Given the description of an element on the screen output the (x, y) to click on. 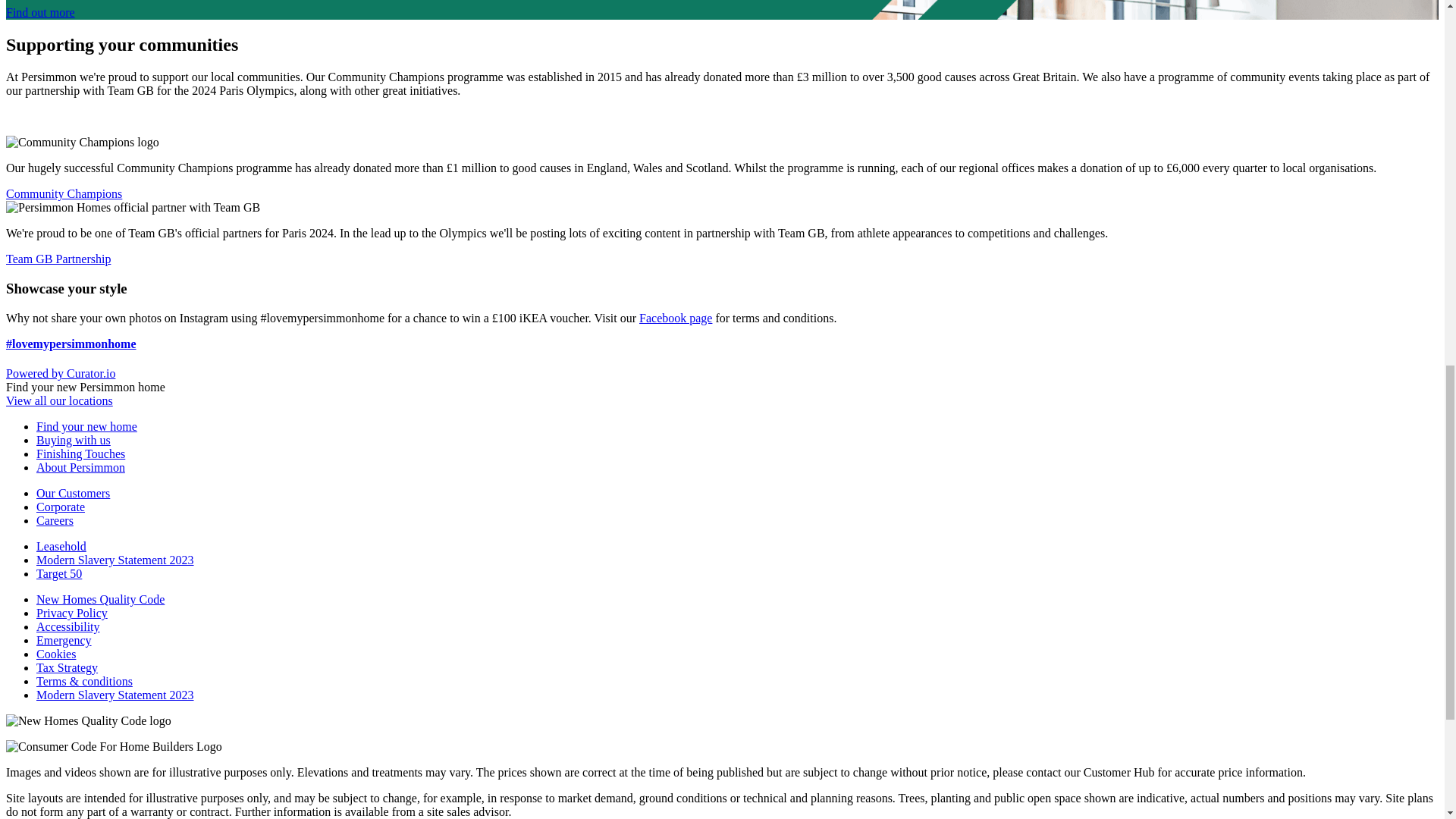
Leasehold (60, 545)
Our Customers (73, 492)
Team GB Partnership (57, 258)
New Homes Quality Code (100, 599)
Modern Slavery Statement 2023 (114, 559)
Emergency (63, 640)
Community Champions (63, 193)
Careers (55, 520)
Facebook page (675, 318)
Buying with us (73, 440)
Find your new home (86, 426)
About Persimmon (80, 467)
Cookies (55, 653)
Find out more (40, 11)
Target 50 (58, 573)
